Given the description of an element on the screen output the (x, y) to click on. 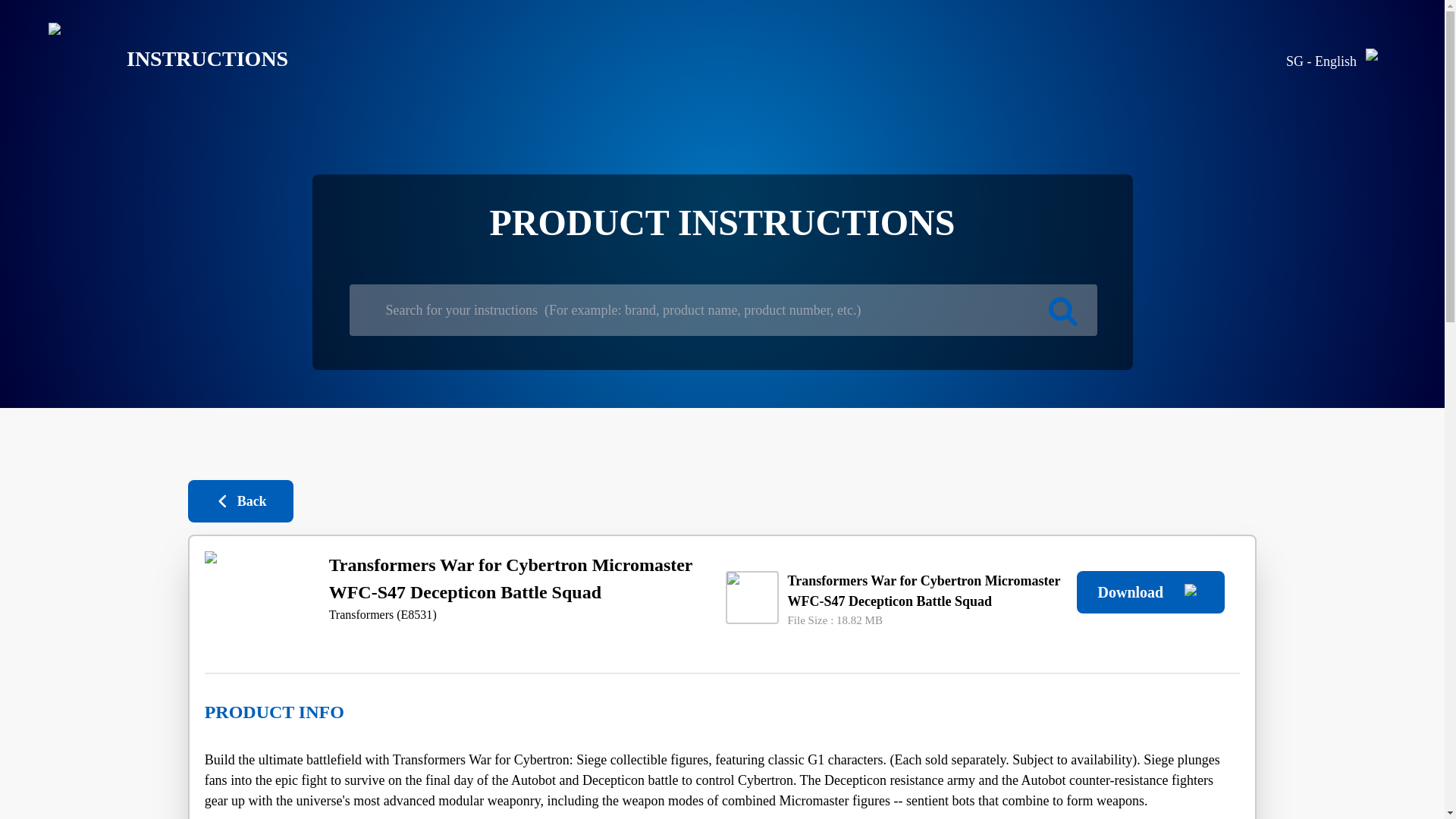
Back (240, 500)
INSTRUCTIONS (156, 59)
Download (1150, 591)
